Given the description of an element on the screen output the (x, y) to click on. 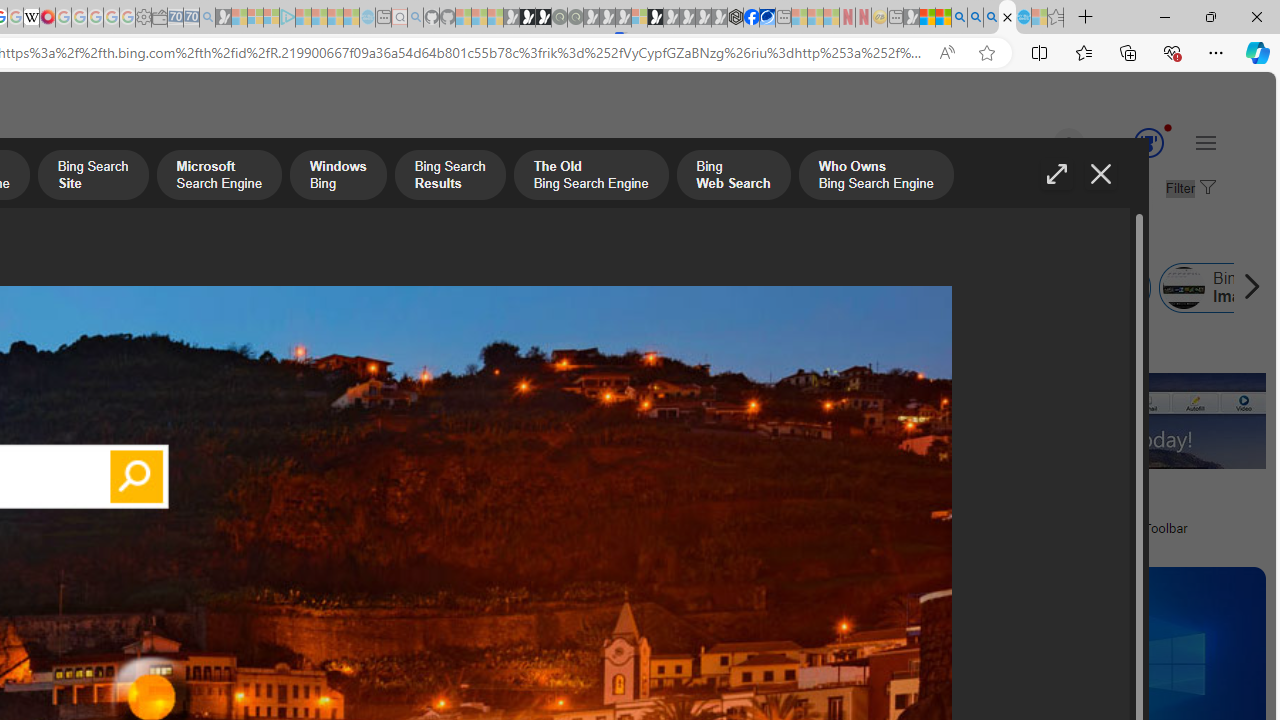
Eugene (1041, 143)
github - Search - Sleeping (415, 17)
Bing AI - Search (959, 17)
Download Bing Bar, the new Bing ToolbarSave (1104, 444)
Bing Image Search Not Working (1183, 287)
Close image (1100, 173)
